Given the description of an element on the screen output the (x, y) to click on. 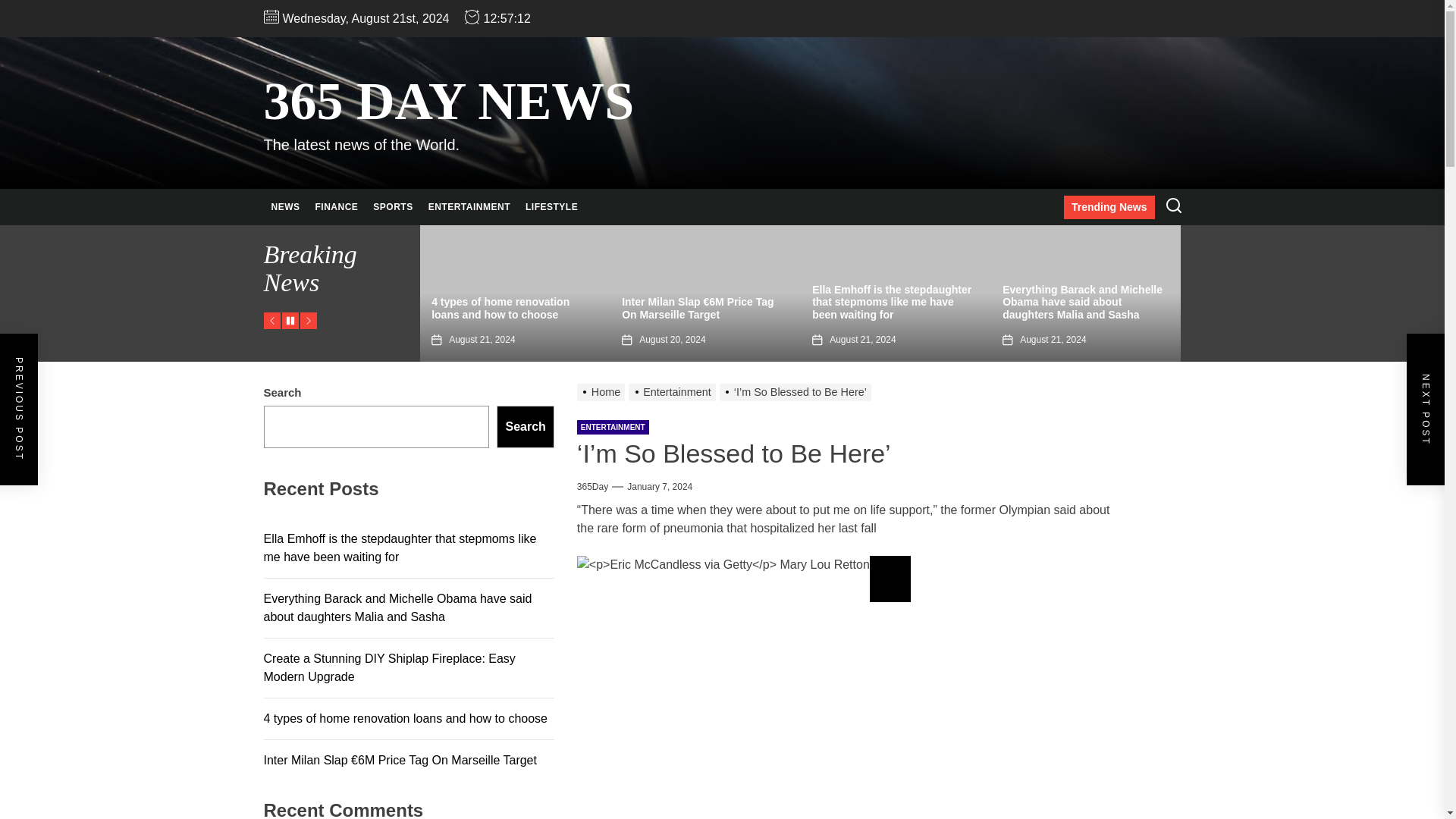
NEWS (285, 207)
365 DAY NEWS (448, 101)
FINANCE (336, 207)
ENTERTAINMENT (469, 207)
Trending News (1109, 207)
SPORTS (392, 207)
LIFESTYLE (551, 207)
